Given the description of an element on the screen output the (x, y) to click on. 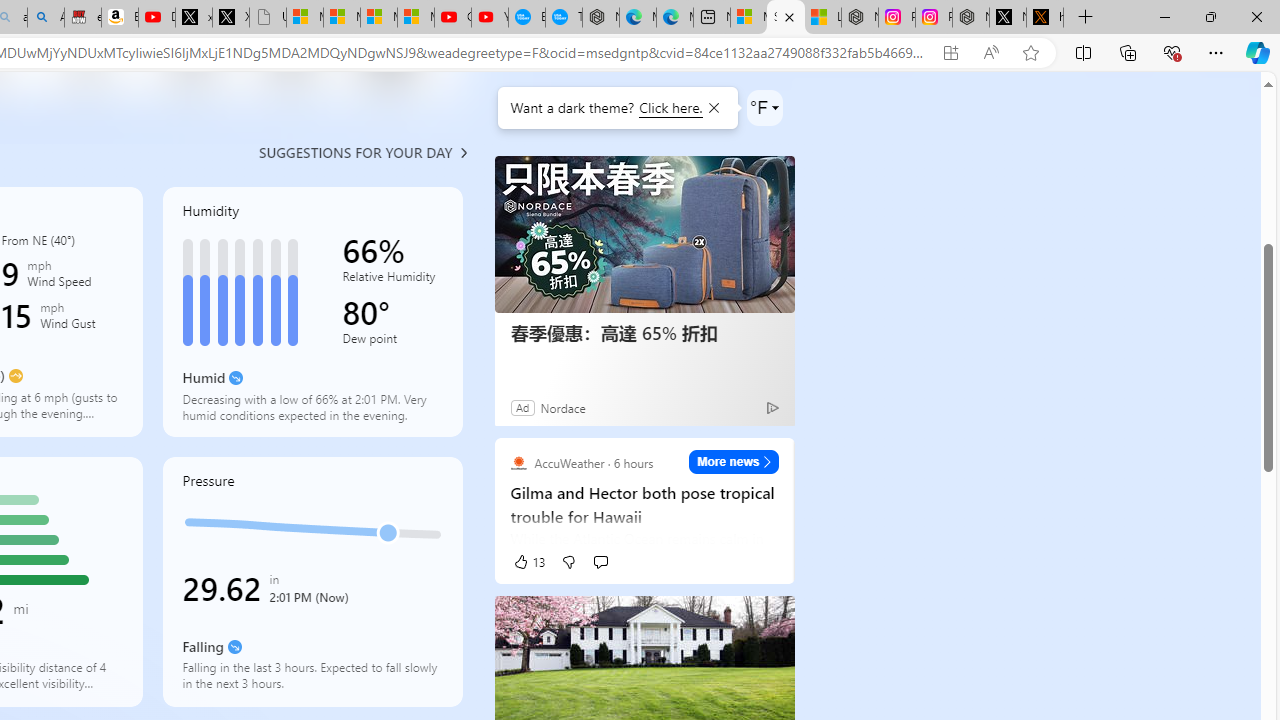
Weather settings (764, 107)
Dew point (391, 341)
Nordace - Nordace has arrived Hong Kong (600, 17)
More news (733, 461)
help.x.com | 524: A timeout occurred (1044, 17)
Suggestions for your day (355, 152)
Falling (233, 646)
Pressure (312, 582)
